Given the description of an element on the screen output the (x, y) to click on. 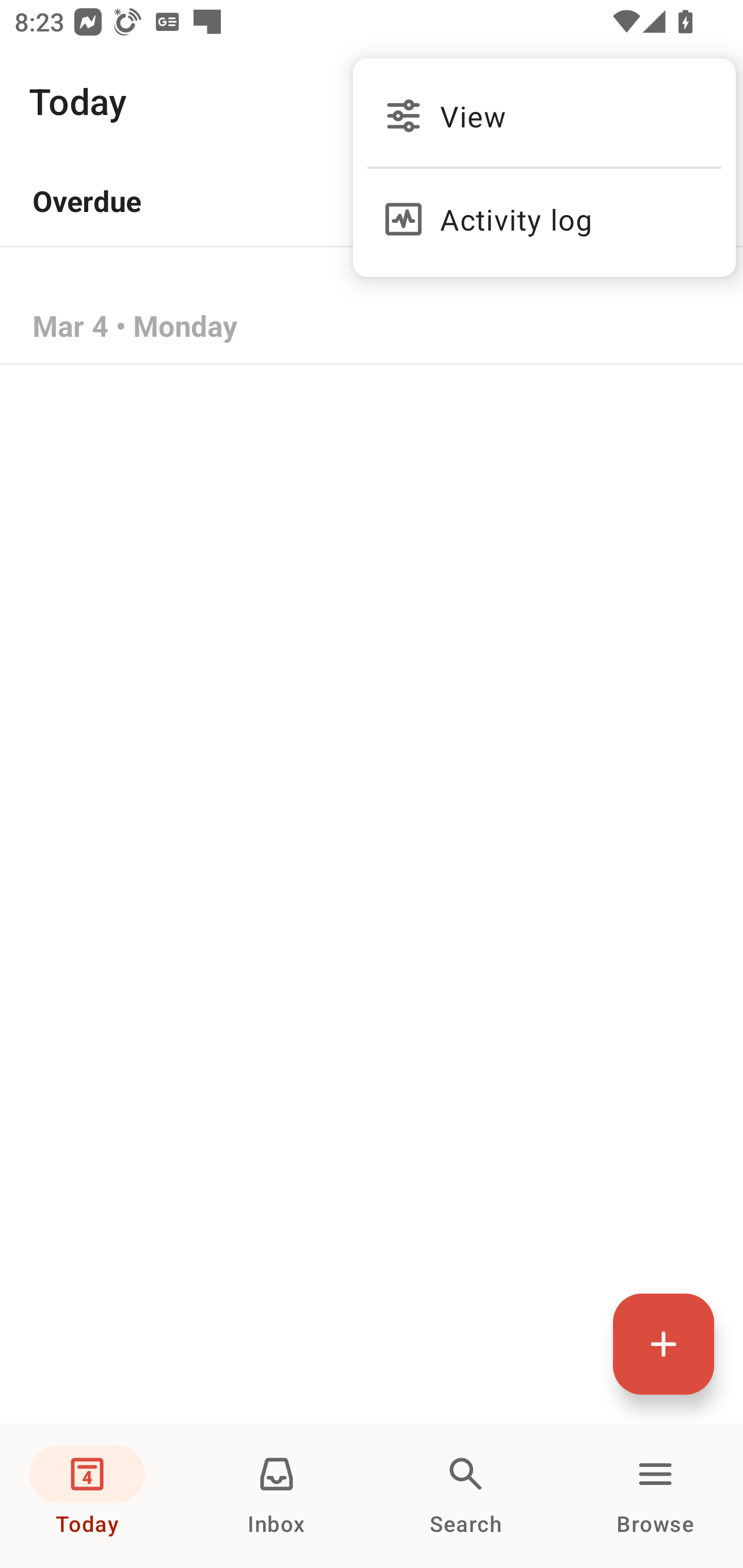
View (544, 115)
Activity log (544, 210)
